Given the description of an element on the screen output the (x, y) to click on. 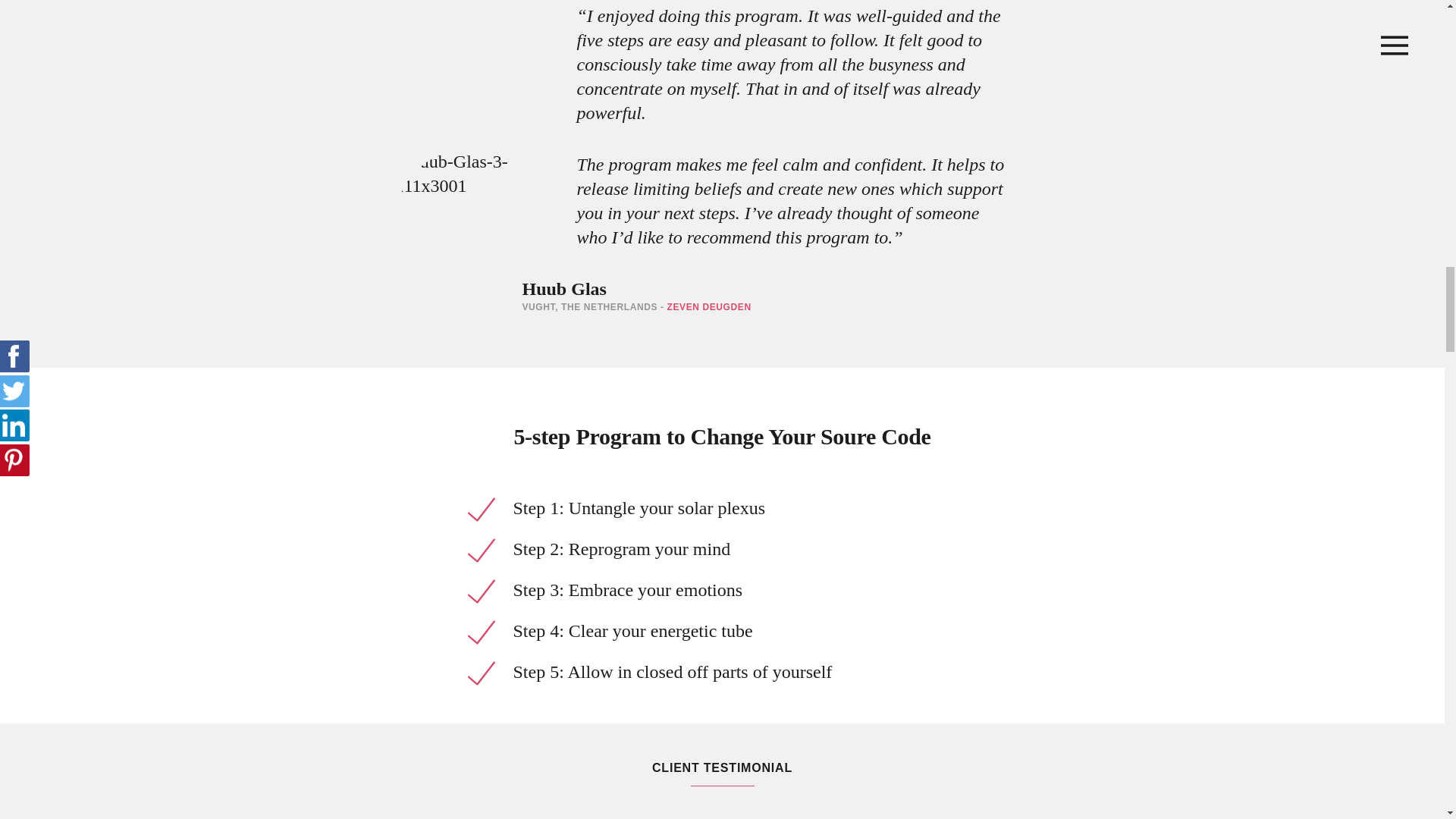
ZEVEN DEUGDEN (703, 543)
YES I WANT TO BE ALL I CAN BE (716, 90)
